Given the description of an element on the screen output the (x, y) to click on. 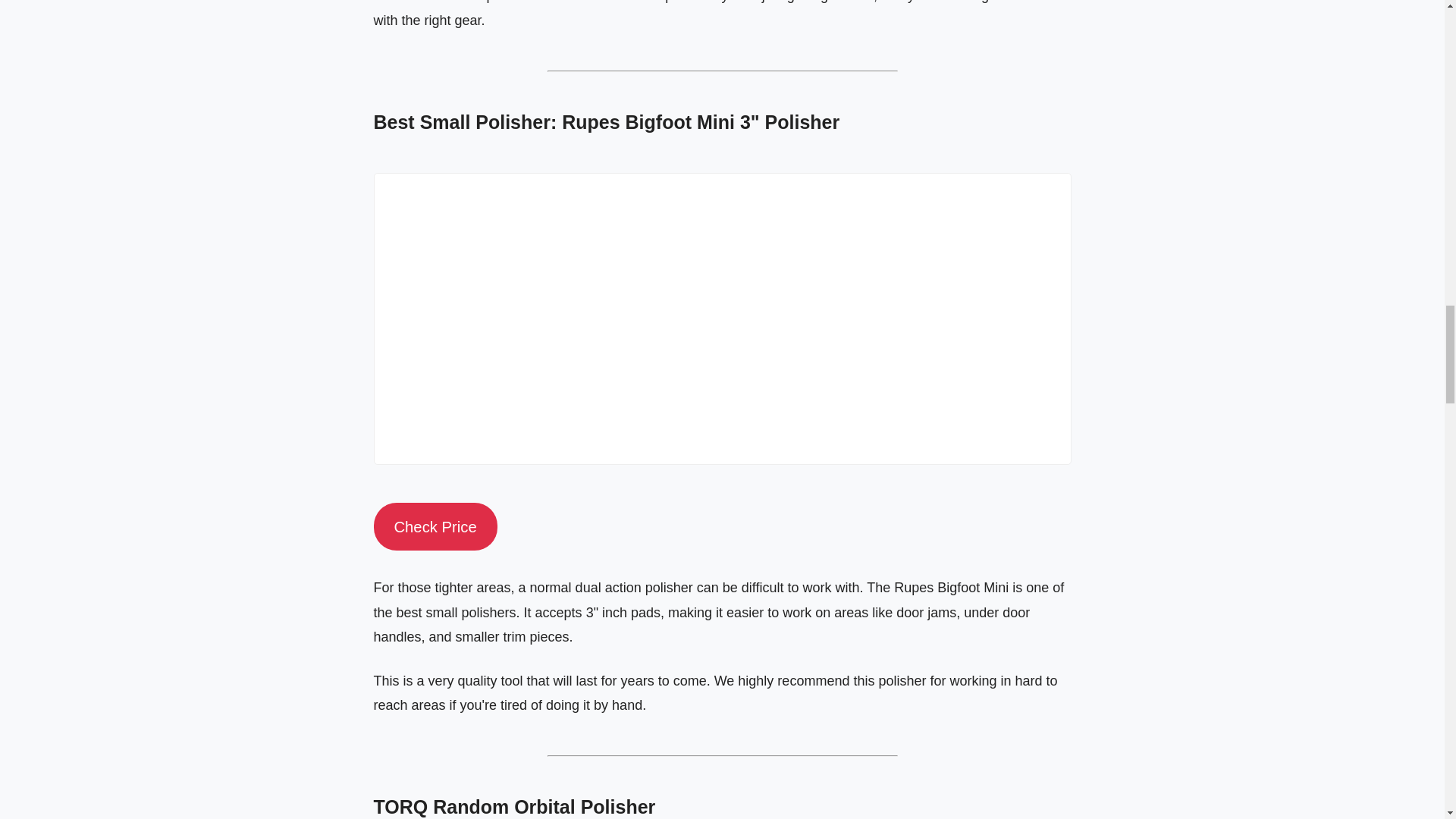
Check Price (434, 526)
